Given the description of an element on the screen output the (x, y) to click on. 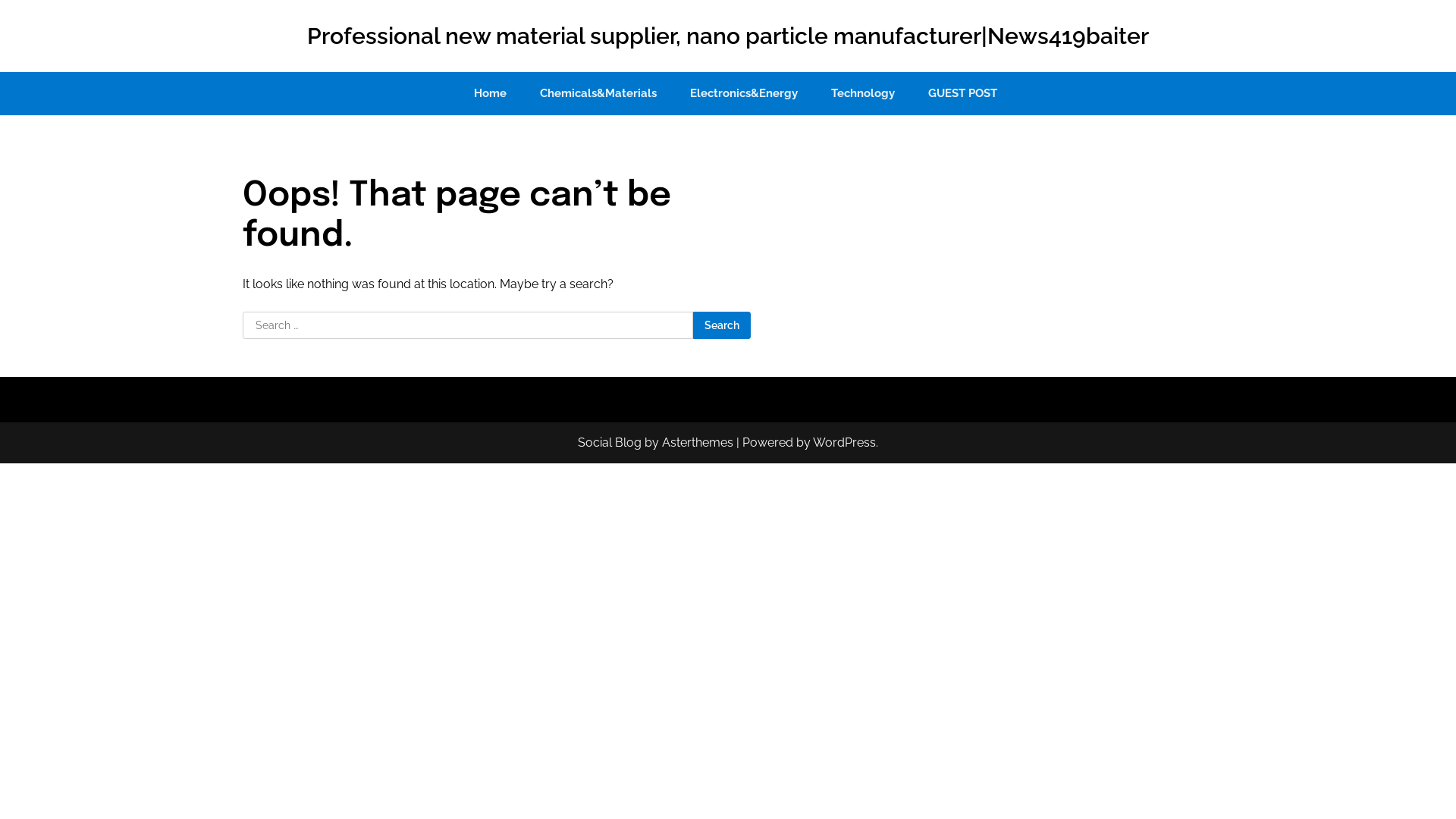
Home Element type: text (489, 93)
Electronics&Energy Element type: text (743, 93)
GUEST POST Element type: text (962, 93)
Social Blog Element type: text (609, 442)
Search Element type: text (721, 324)
Asterthemes Element type: text (697, 442)
Technology Element type: text (862, 93)
Chemicals&Materials Element type: text (597, 93)
WordPress Element type: text (843, 442)
